Given the description of an element on the screen output the (x, y) to click on. 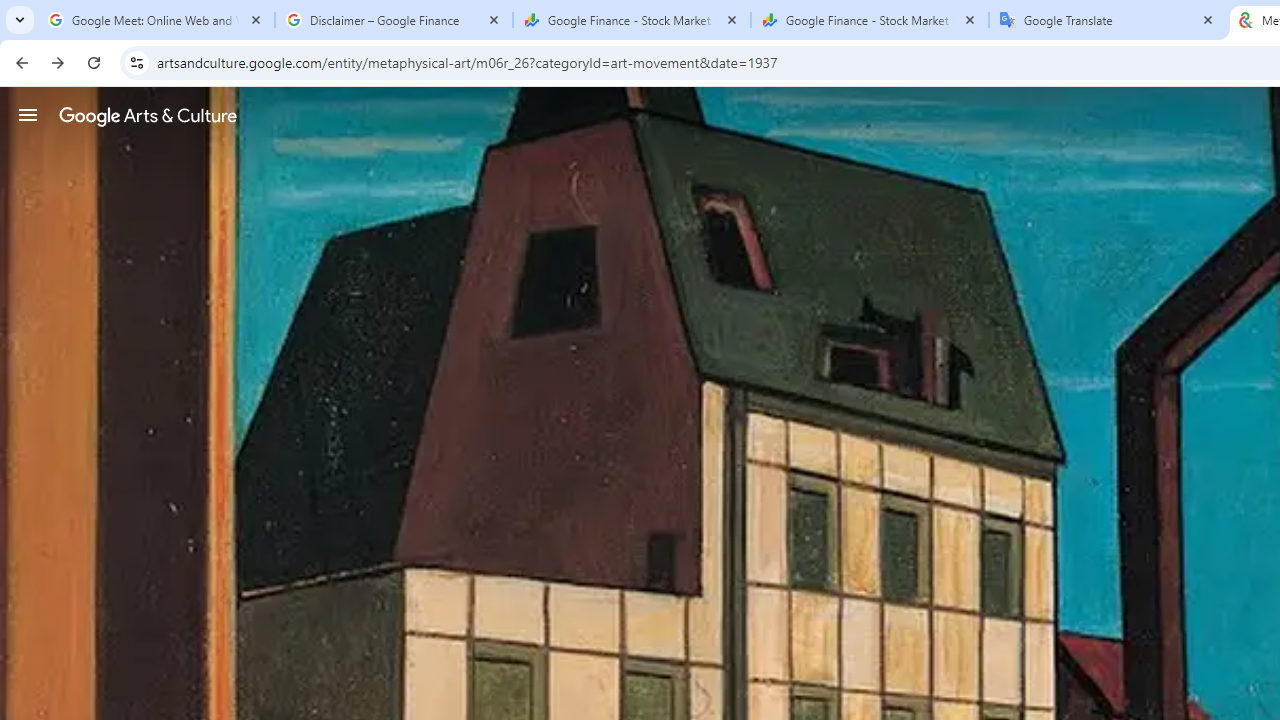
Menu (27, 114)
Google Arts & Culture (148, 115)
